Given the description of an element on the screen output the (x, y) to click on. 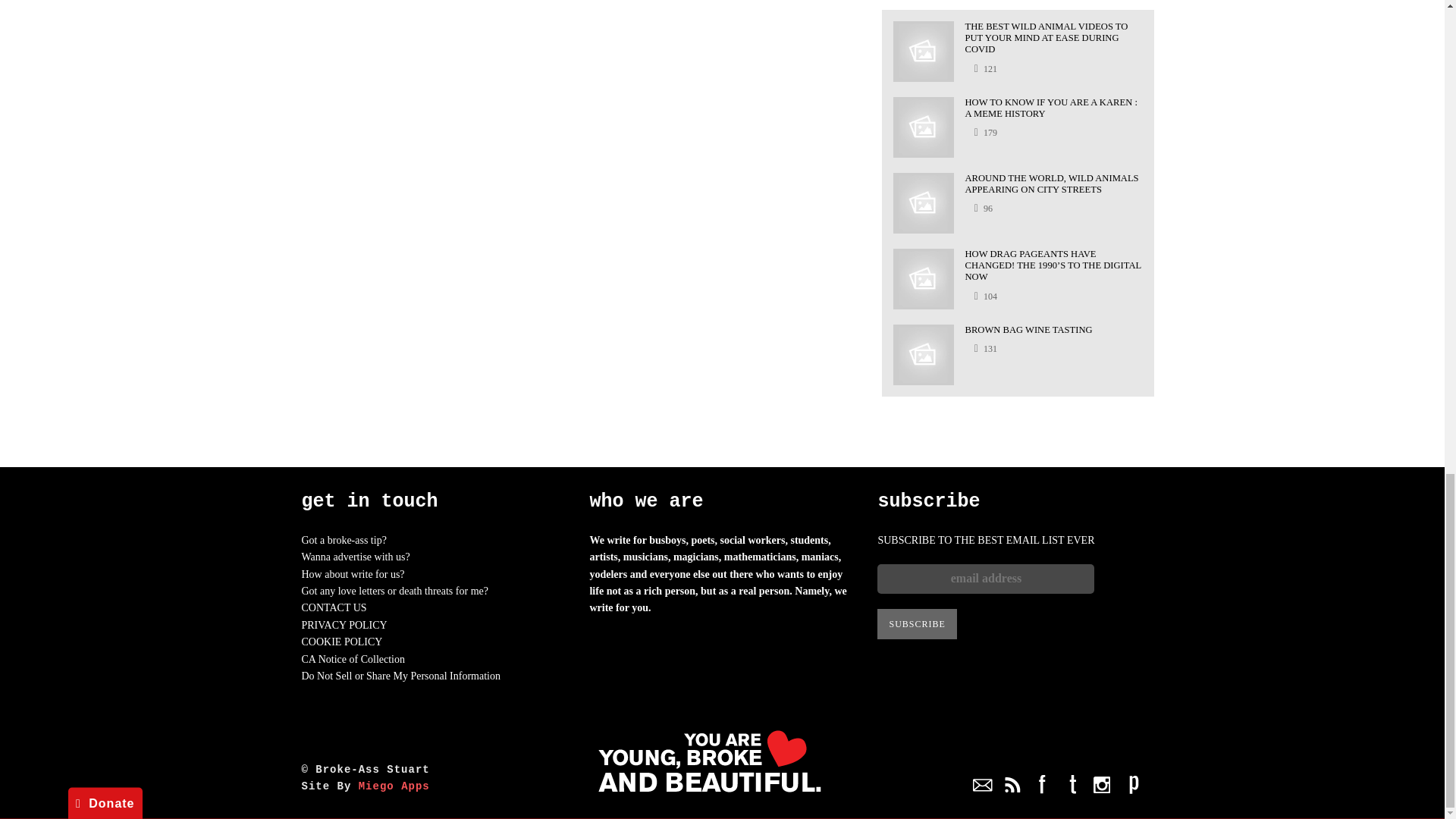
Subscribe (916, 624)
